Given the description of an element on the screen output the (x, y) to click on. 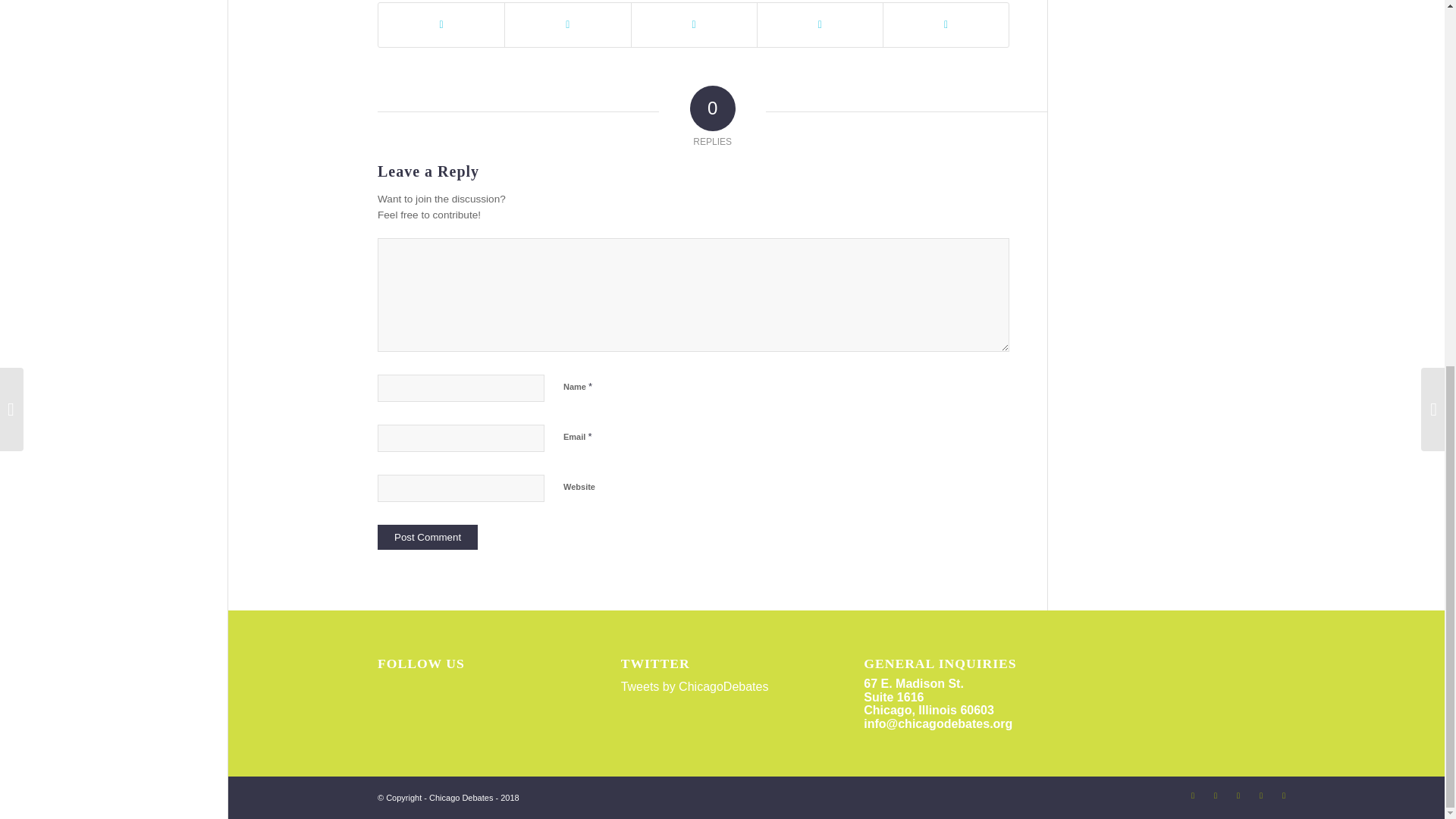
Youtube (1238, 794)
Post Comment (427, 536)
Post Comment (427, 536)
Twitter (1192, 794)
Instagram (1215, 794)
